Given the description of an element on the screen output the (x, y) to click on. 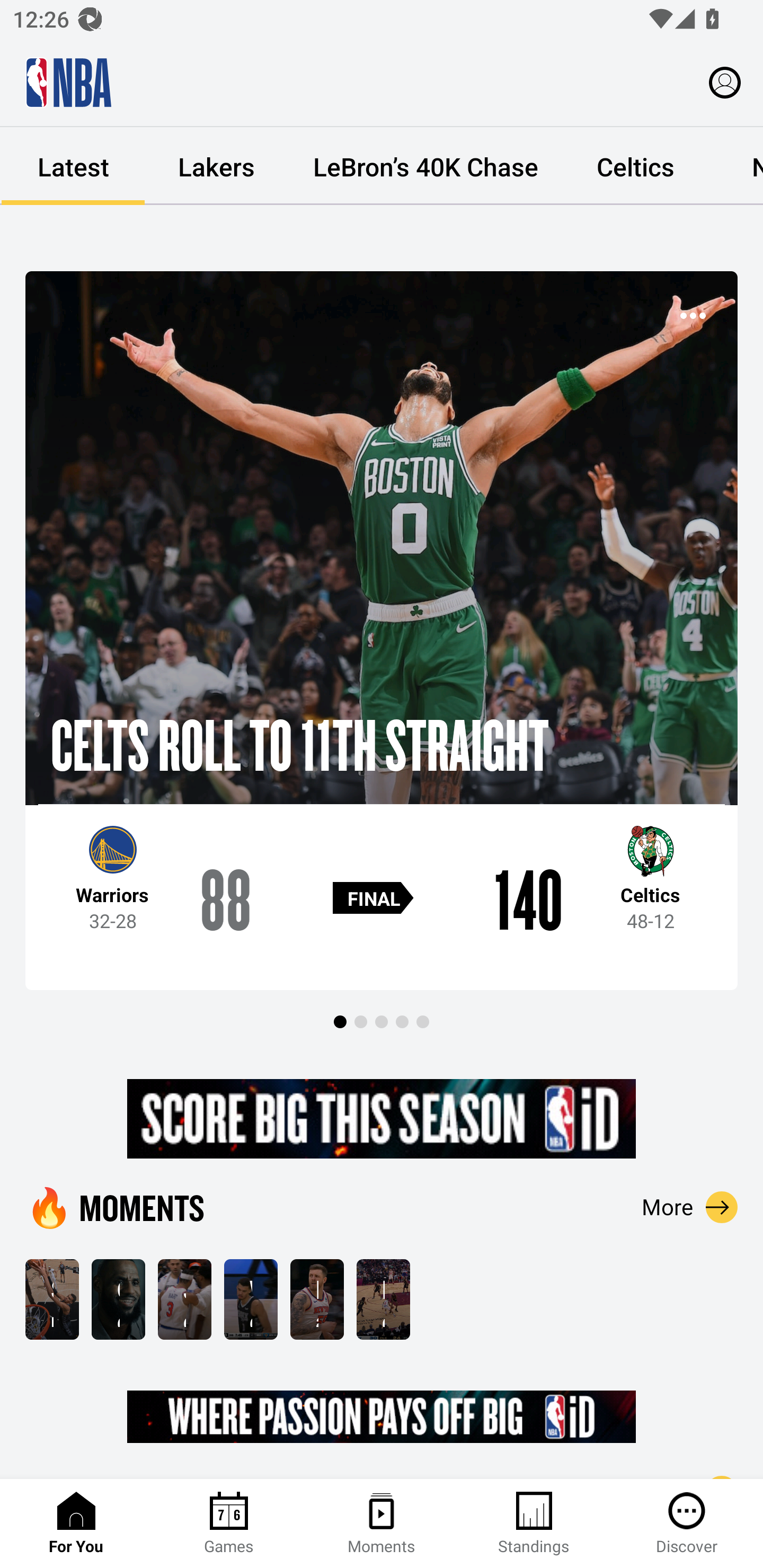
Profile (724, 81)
Lakers (215, 166)
LeBron’s 40K Chase (425, 166)
Celtics (634, 166)
More (689, 1207)
Sunday's Top Plays In 30 Seconds ⏱ (51, 1299)
Hartenstein Drops The Hammer 🔨 (317, 1299)
Games (228, 1523)
Moments (381, 1523)
Standings (533, 1523)
Discover (686, 1523)
